Given the description of an element on the screen output the (x, y) to click on. 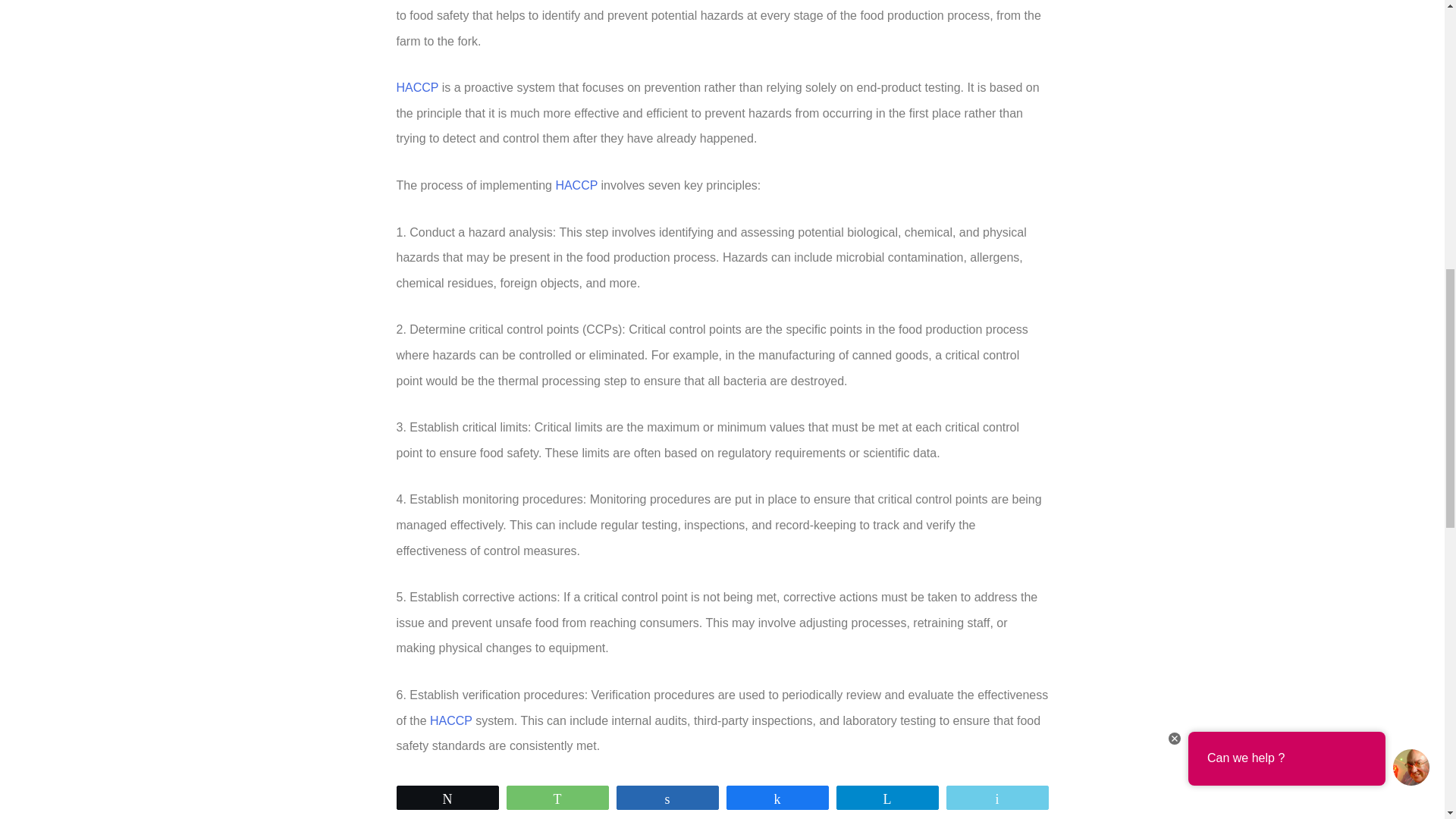
HACCP (450, 720)
HACCP (417, 87)
HACCP (575, 185)
